Given the description of an element on the screen output the (x, y) to click on. 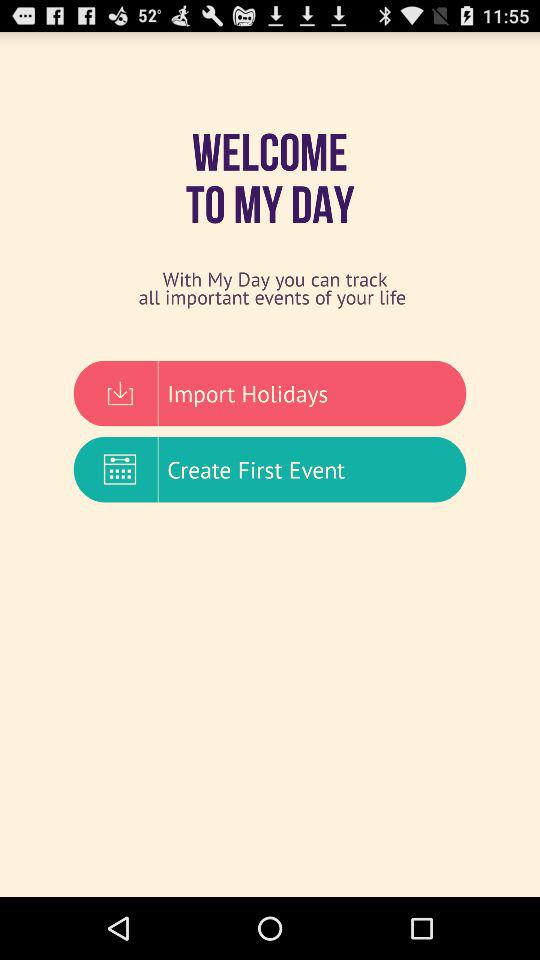
scroll to create first event (269, 469)
